Given the description of an element on the screen output the (x, y) to click on. 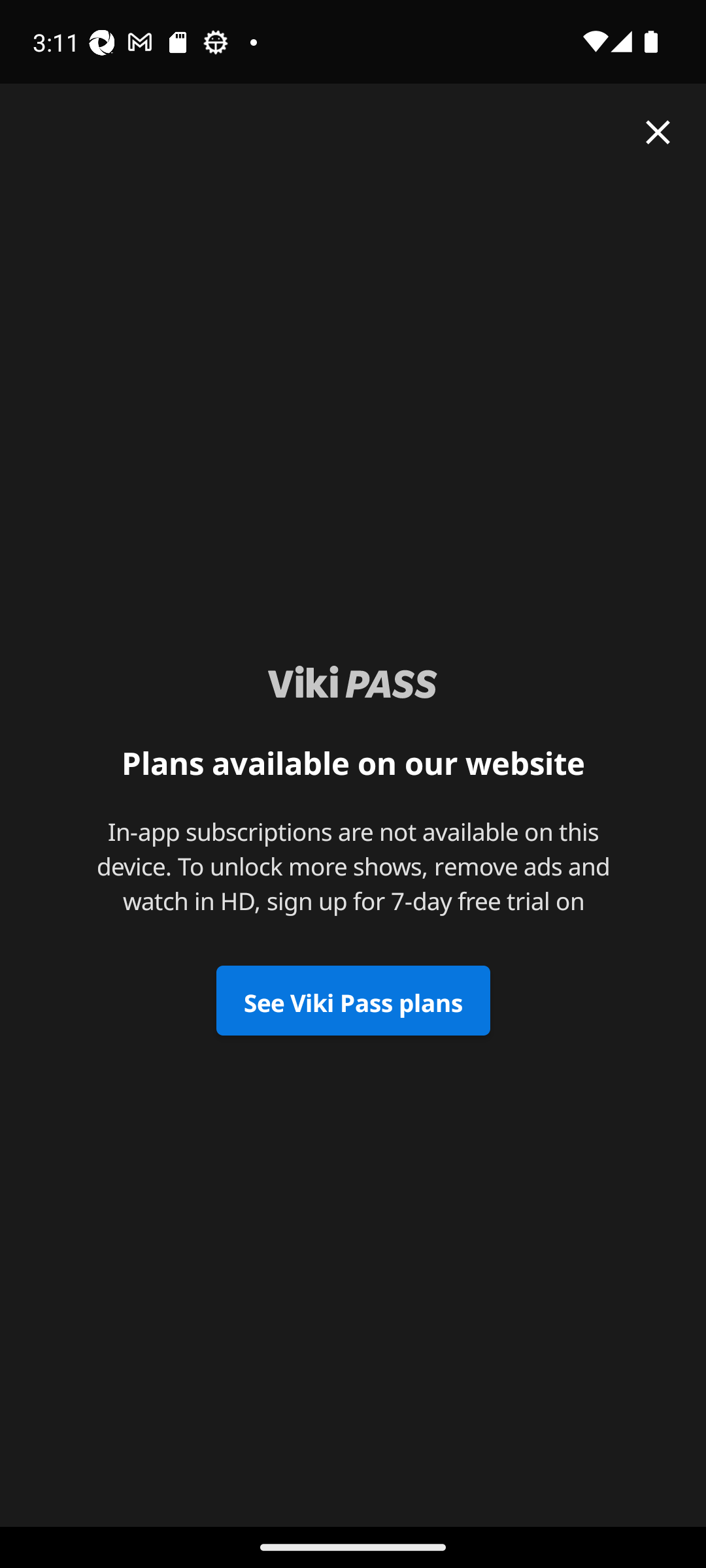
close_button (658, 132)
See Viki Pass plans (352, 1000)
